Given the description of an element on the screen output the (x, y) to click on. 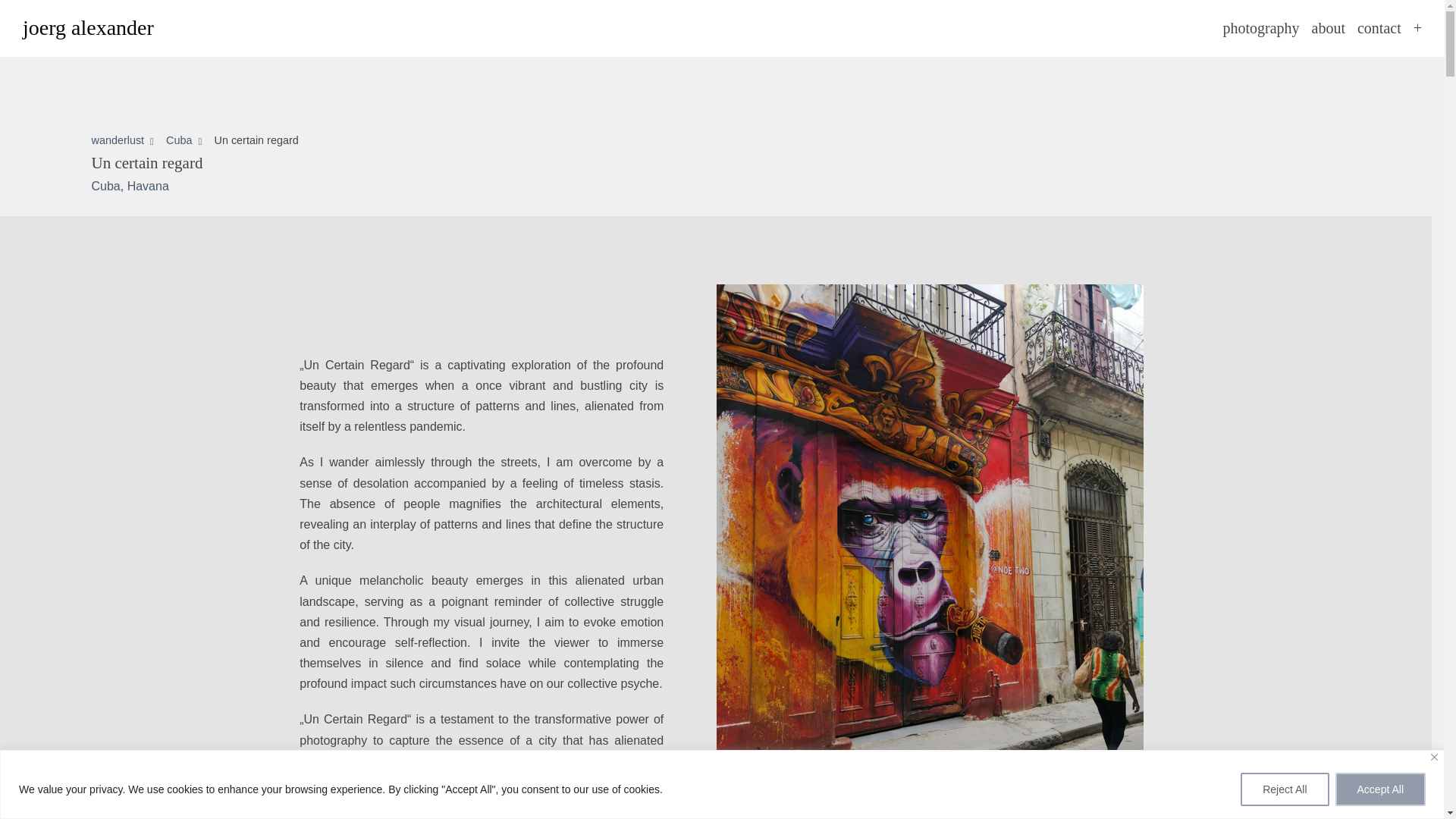
joerg alexander  (88, 28)
wanderlust (117, 140)
Cuba (178, 140)
photography (1260, 27)
Havana (148, 185)
Cuba (104, 185)
about (1328, 27)
joerg alexander (88, 28)
contact (1378, 27)
Accept All (1380, 788)
